Given the description of an element on the screen output the (x, y) to click on. 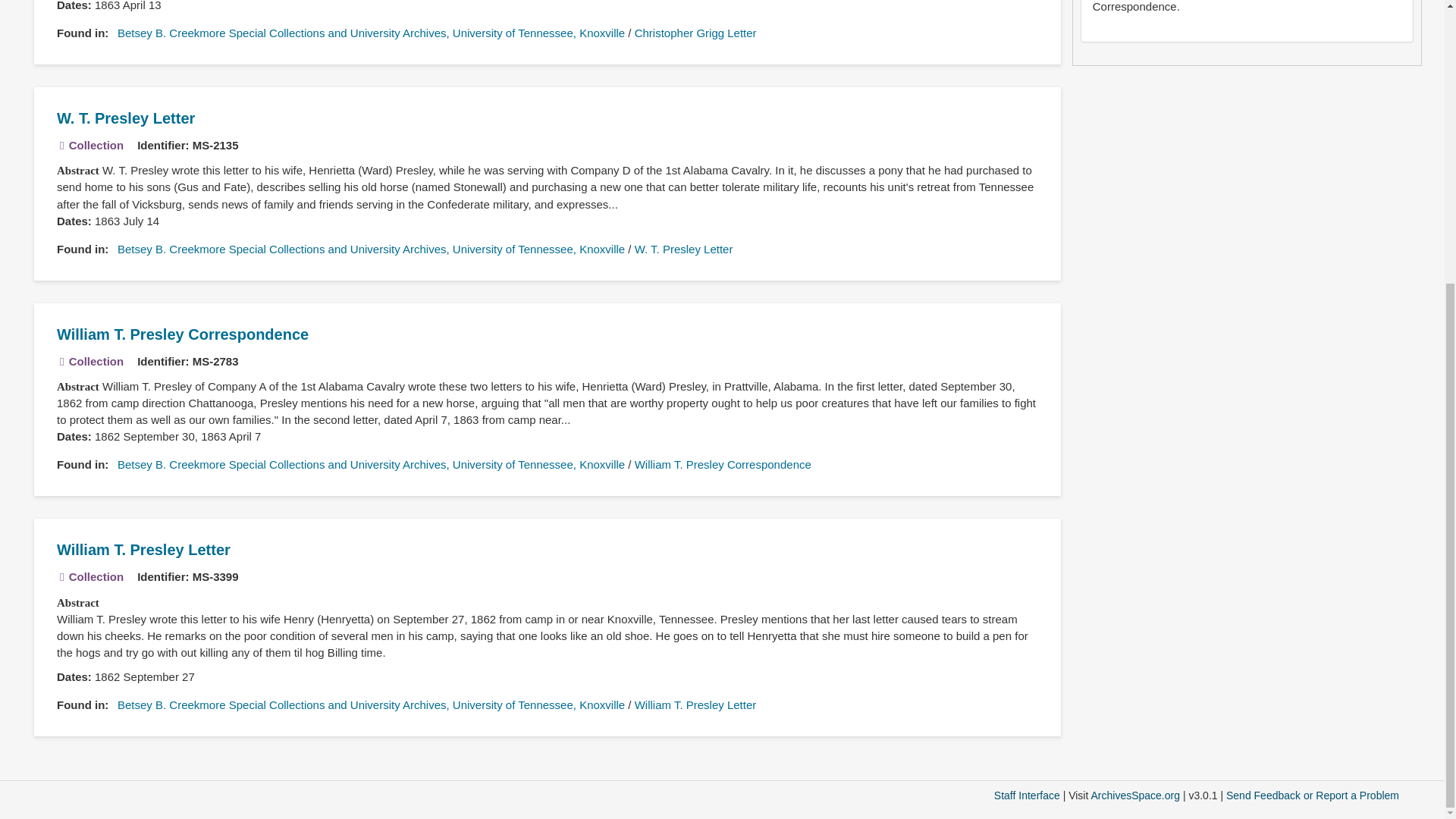
William T. Presley Letter (695, 704)
translation missing: en.dates (71, 5)
Staff Interface (1026, 795)
W. T. Presley Letter (125, 117)
William T. Presley Correspondence (182, 334)
translation missing: en.dates (71, 436)
Christopher Grigg Letter (695, 32)
W. T. Presley Letter (683, 248)
ArchivesSpace.org (1134, 795)
Send Feedback or Report a Problem (1312, 795)
translation missing: en.dates (71, 676)
William T. Presley Correspondence (722, 463)
William T. Presley Letter (143, 549)
